Given the description of an element on the screen output the (x, y) to click on. 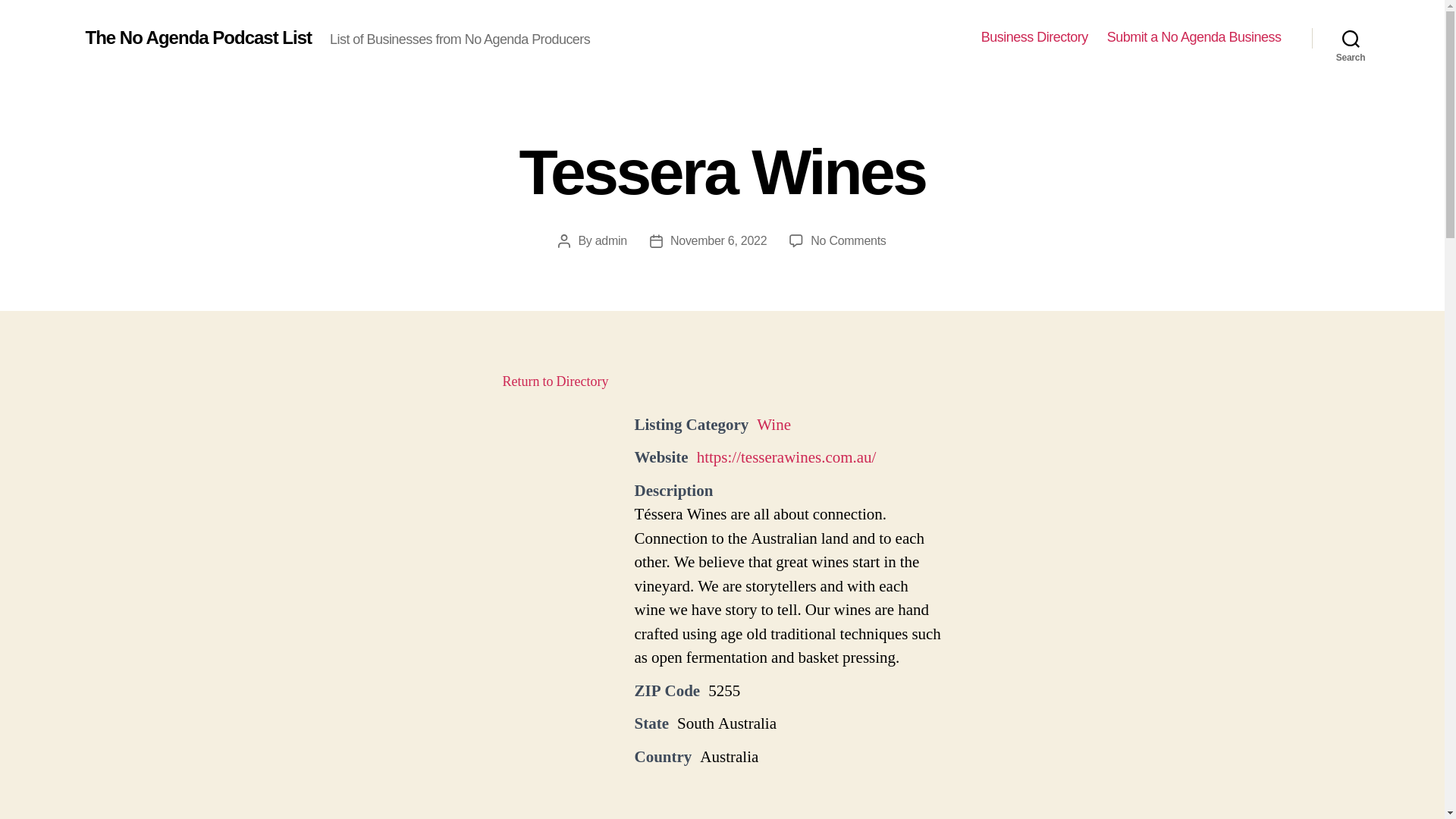
admin (611, 240)
Return to Directory (847, 240)
Wine (555, 381)
Business Directory (773, 424)
November 6, 2022 (1034, 37)
Submit a No Agenda Business (718, 240)
Search (1193, 37)
The No Agenda Podcast List (1350, 37)
